Given the description of an element on the screen output the (x, y) to click on. 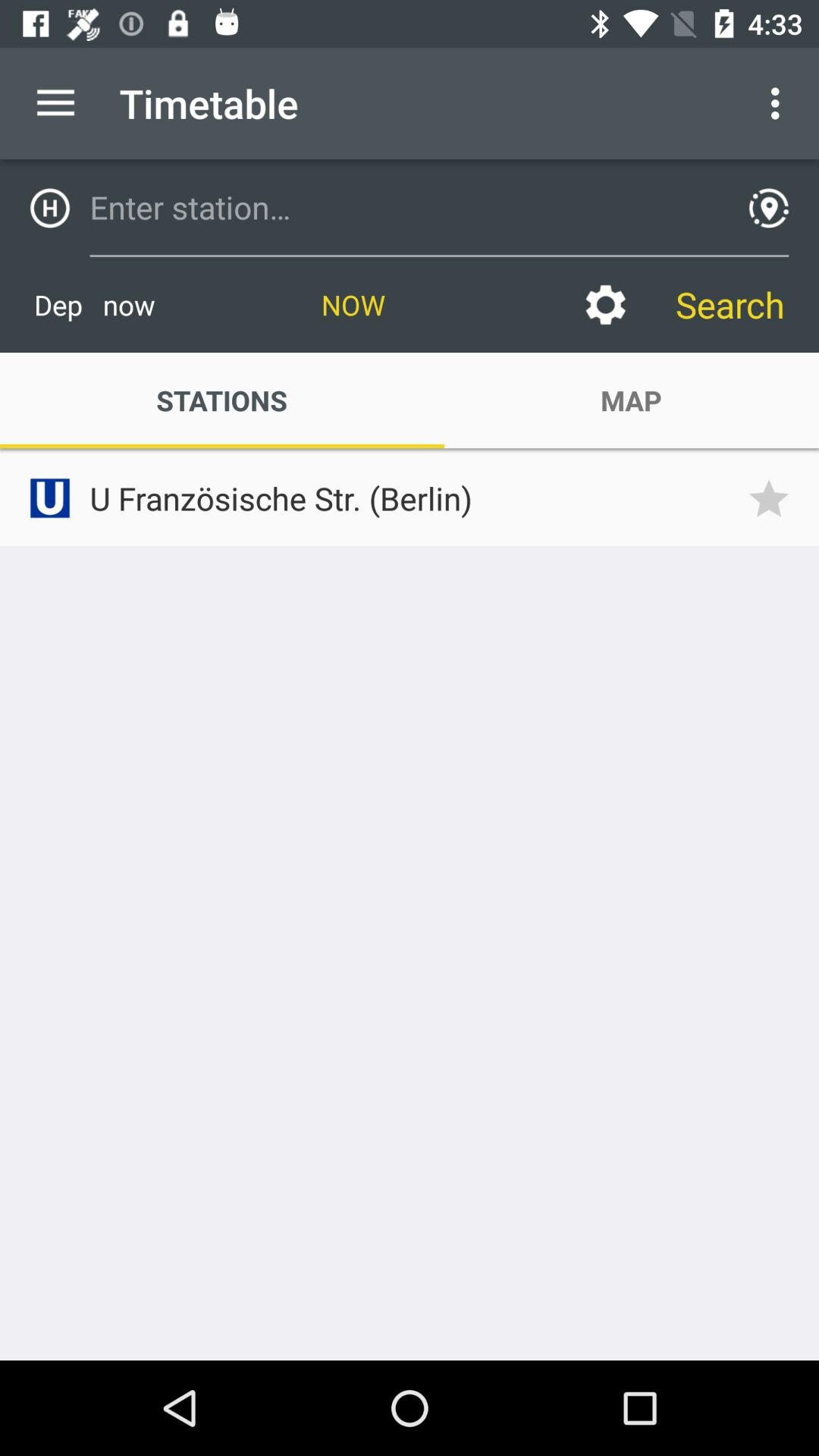
press the item to the right of stations icon (631, 400)
